Given the description of an element on the screen output the (x, y) to click on. 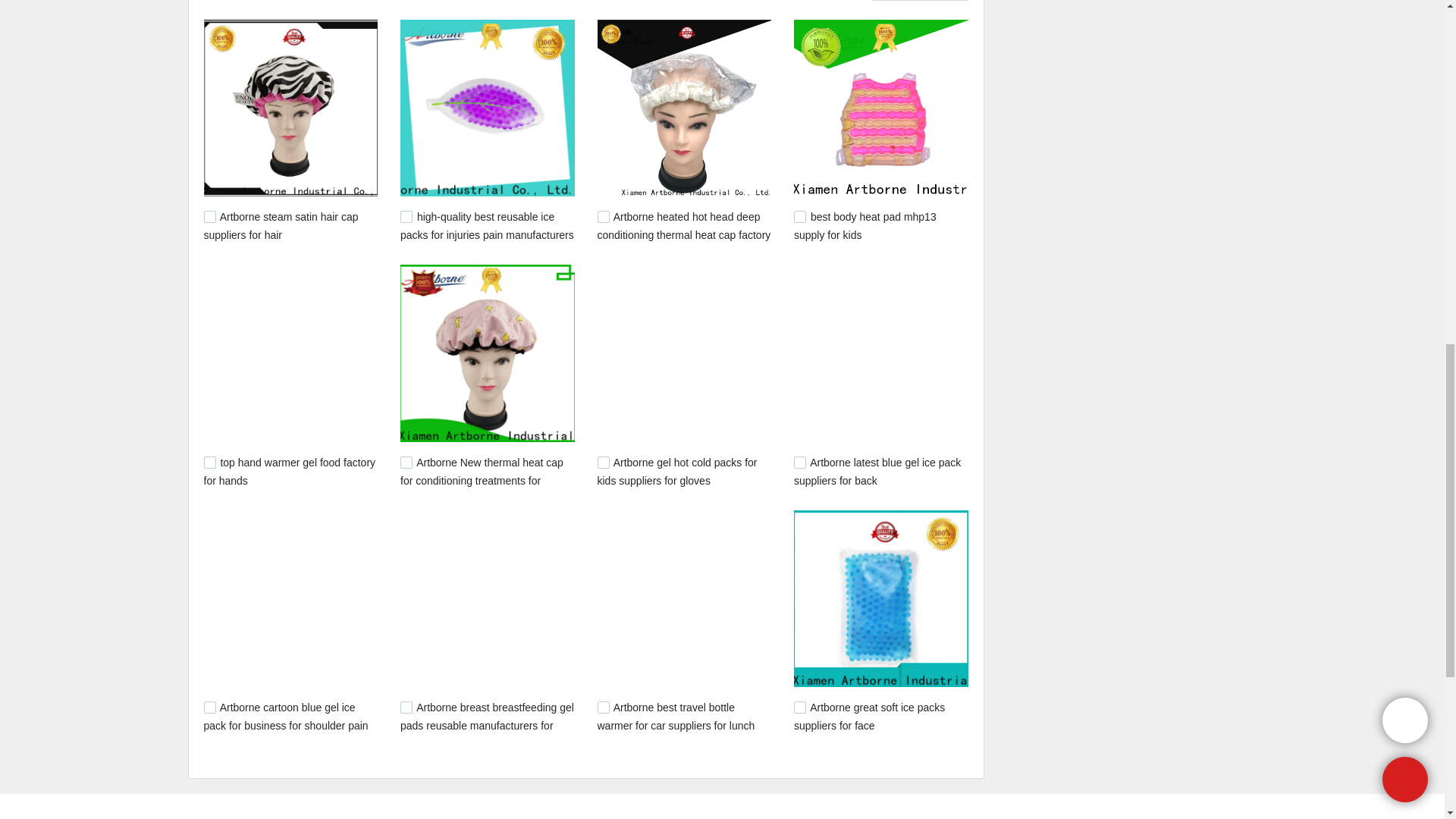
3833 (603, 216)
3863 (406, 216)
3524 (406, 707)
3819 (799, 216)
3685 (799, 462)
3450 (799, 707)
Artborne great soft ice packs suppliers for face (868, 716)
Artborne steam satin hair cap suppliers for hair (280, 225)
3464 (603, 707)
3904 (209, 216)
